Given the description of an element on the screen output the (x, y) to click on. 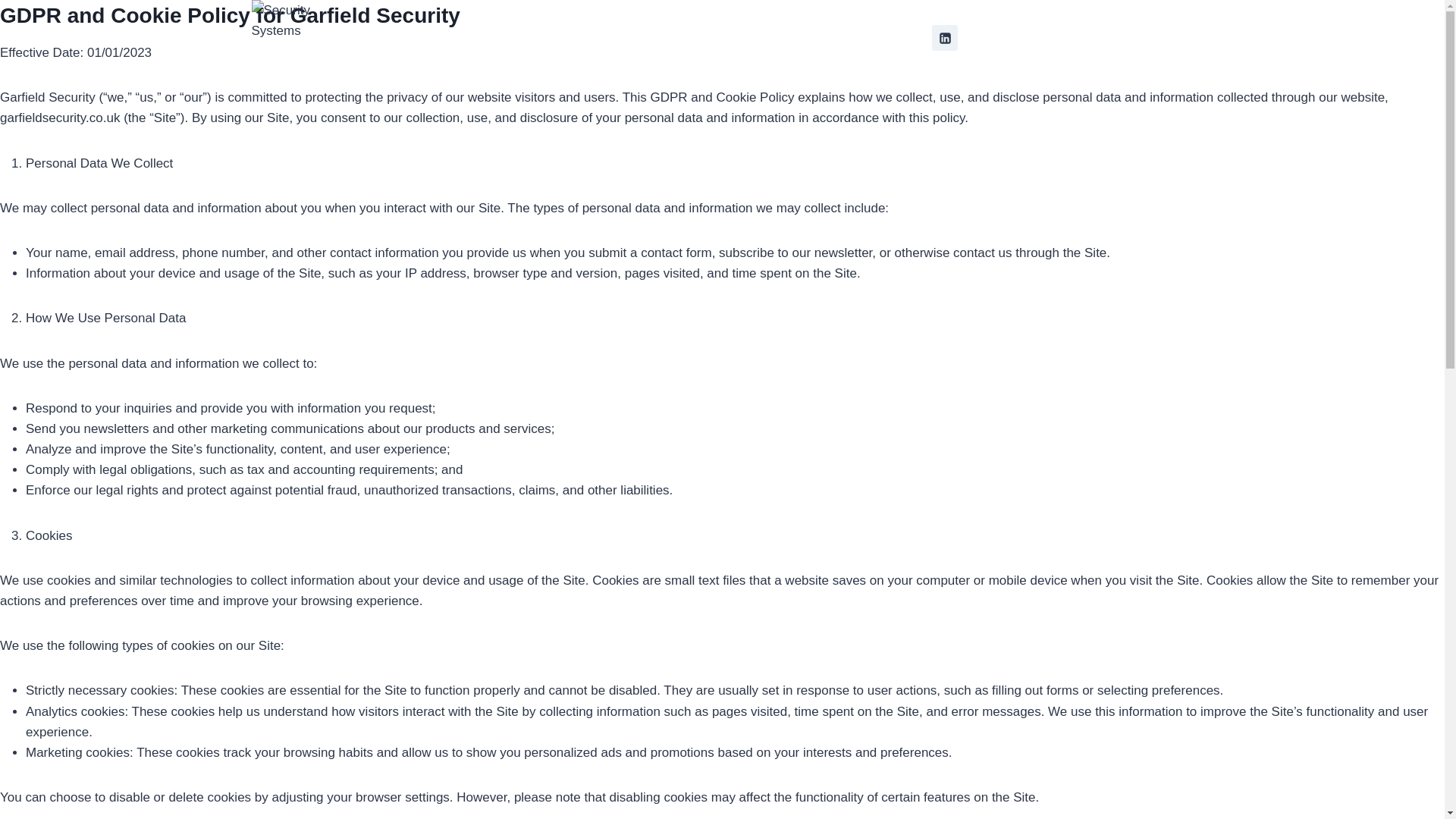
About (1045, 37)
Contact Details (1135, 37)
Home (989, 37)
